Given the description of an element on the screen output the (x, y) to click on. 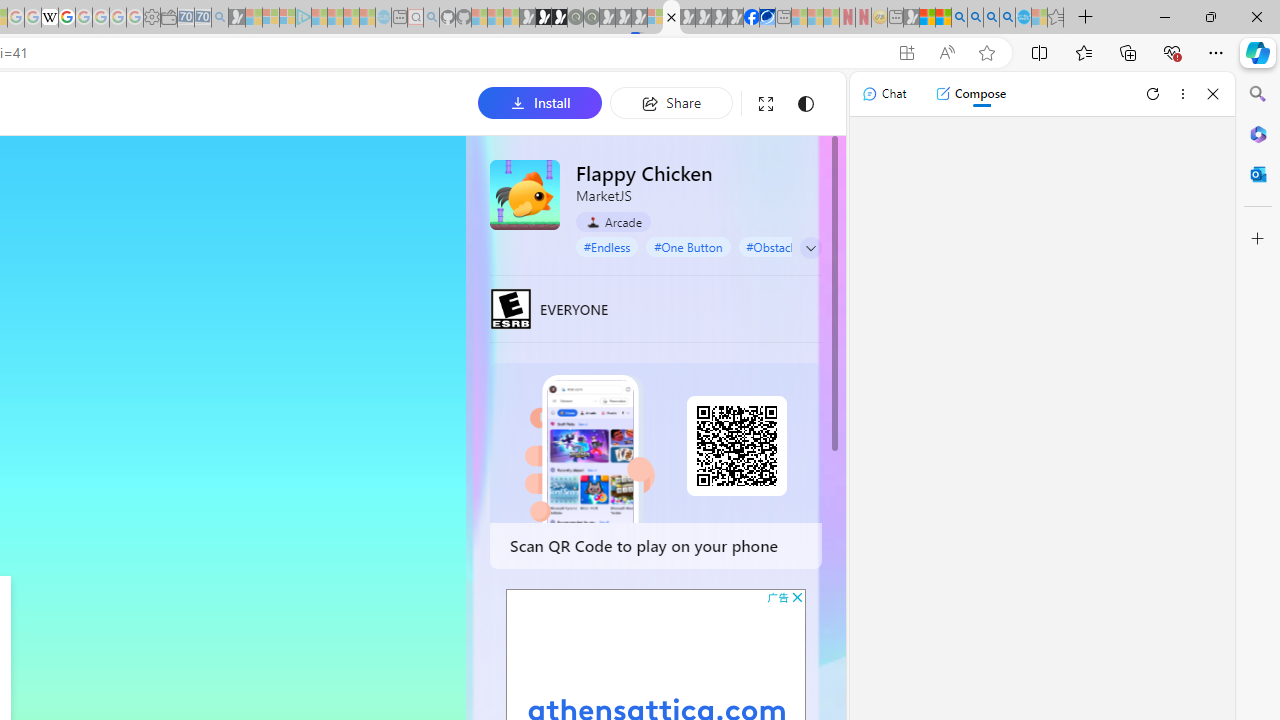
Class: expand-arrow neutral (810, 247)
#Obstacle Course (792, 246)
Google Chrome Internet Browser Download - Search Images (1007, 17)
